Given the description of an element on the screen output the (x, y) to click on. 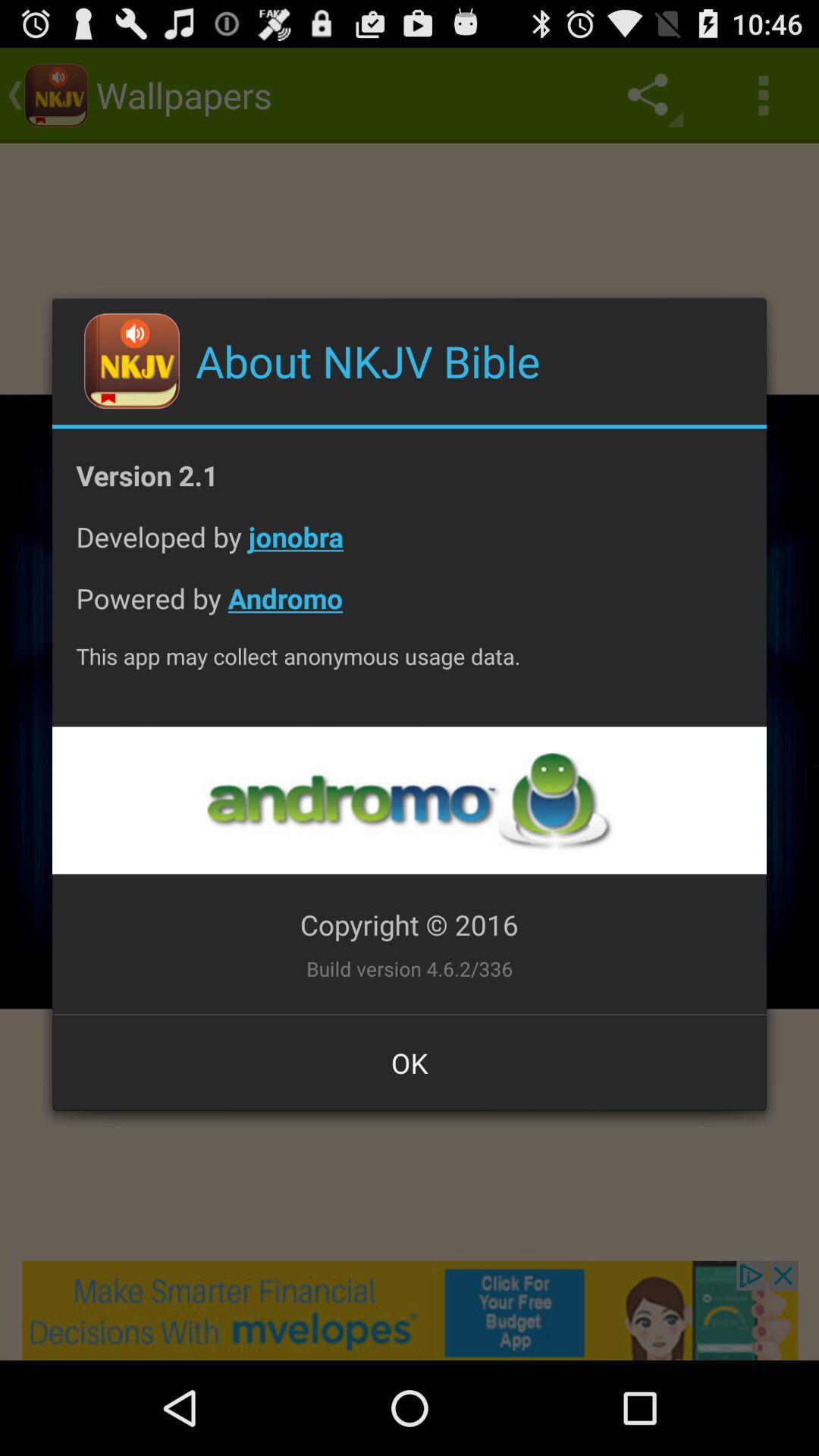
flip to powered by andromo item (409, 609)
